Given the description of an element on the screen output the (x, y) to click on. 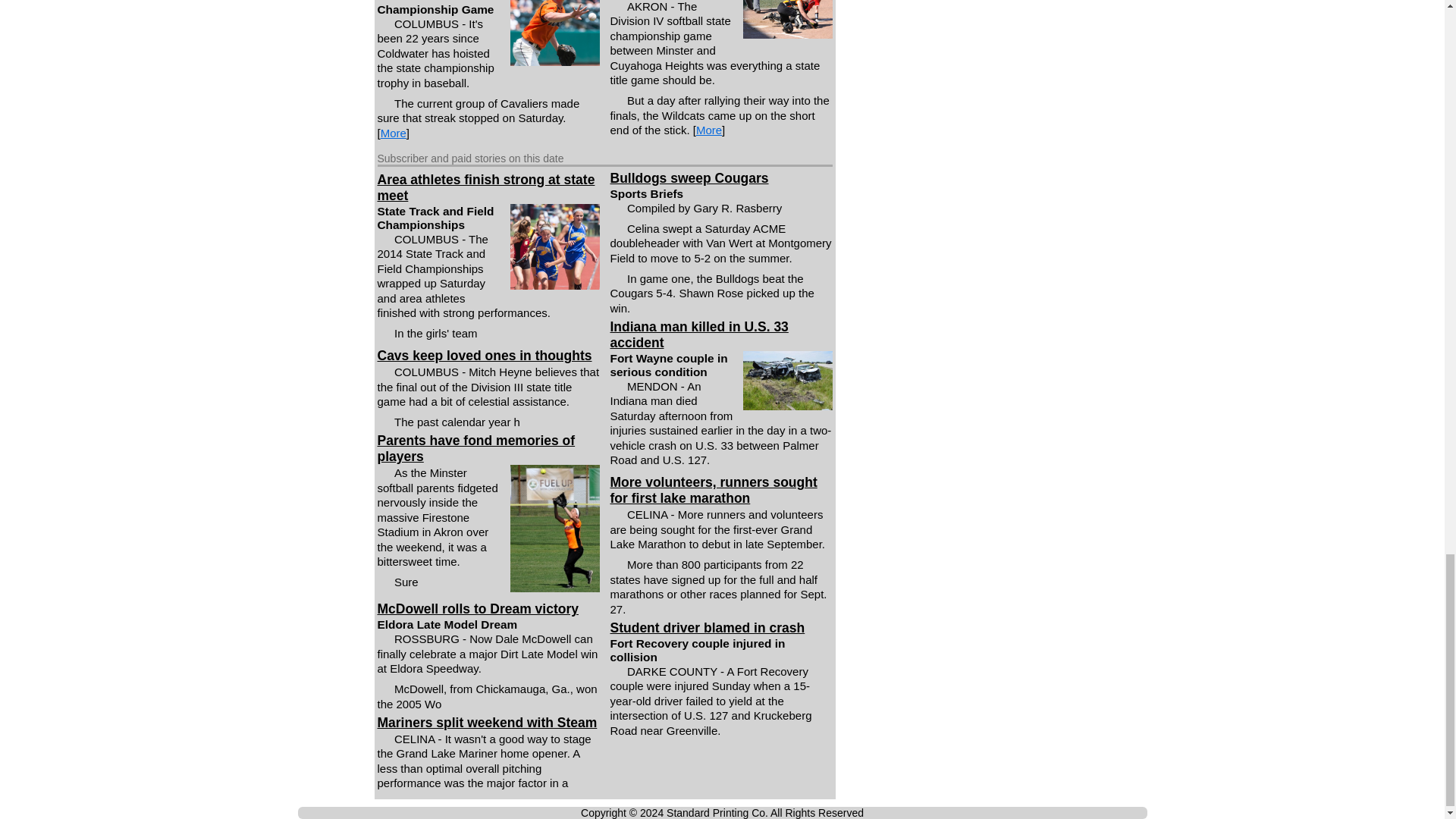
Area athletes finish strong at state meet (486, 187)
More (393, 132)
More (708, 129)
Cavs keep loved ones in thoughts (484, 355)
